Given the description of an element on the screen output the (x, y) to click on. 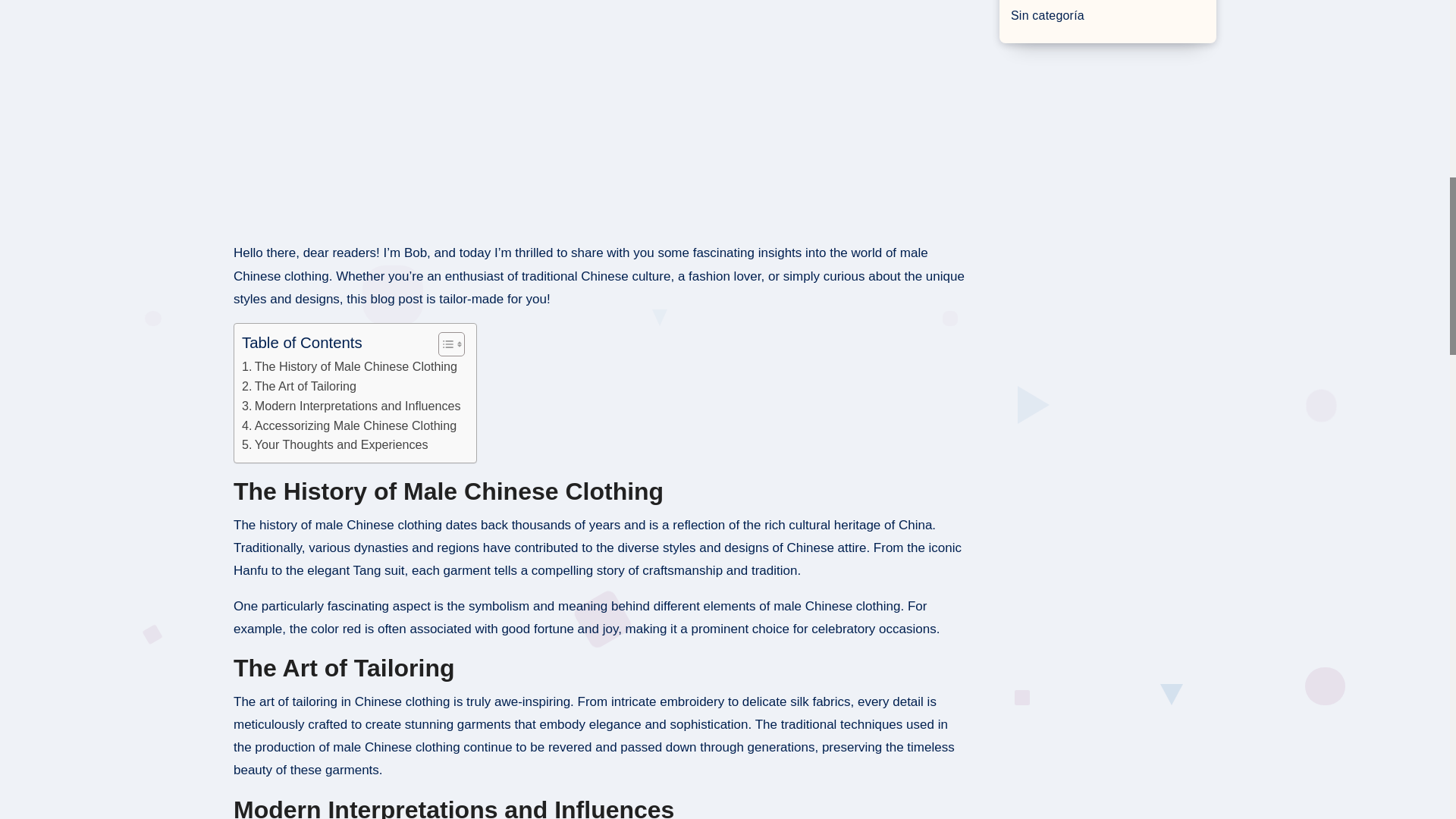
Your Thoughts and Experiences (334, 444)
Accessorizing Male Chinese Clothing (349, 425)
Accessorizing Male Chinese Clothing (349, 425)
The Art of Tailoring (298, 386)
Modern Interpretations and Influences (351, 406)
Modern Interpretations and Influences (351, 406)
The Art of Tailoring (298, 386)
The History of Male Chinese Clothing (349, 366)
The History of Male Chinese Clothing (349, 366)
Your Thoughts and Experiences (334, 444)
